Given the description of an element on the screen output the (x, y) to click on. 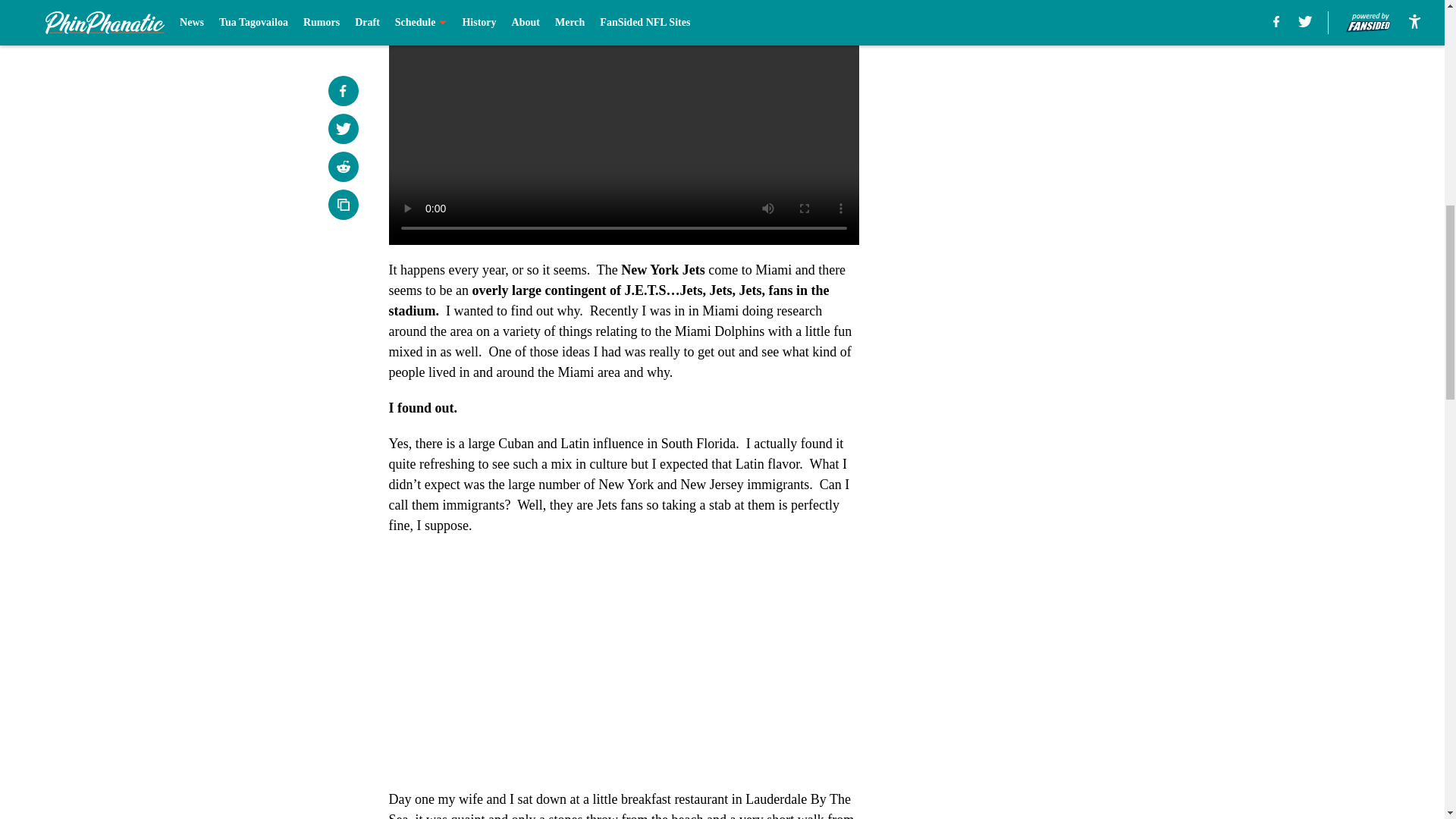
3rd party ad content (1047, 294)
3rd party ad content (1047, 84)
